Given the description of an element on the screen output the (x, y) to click on. 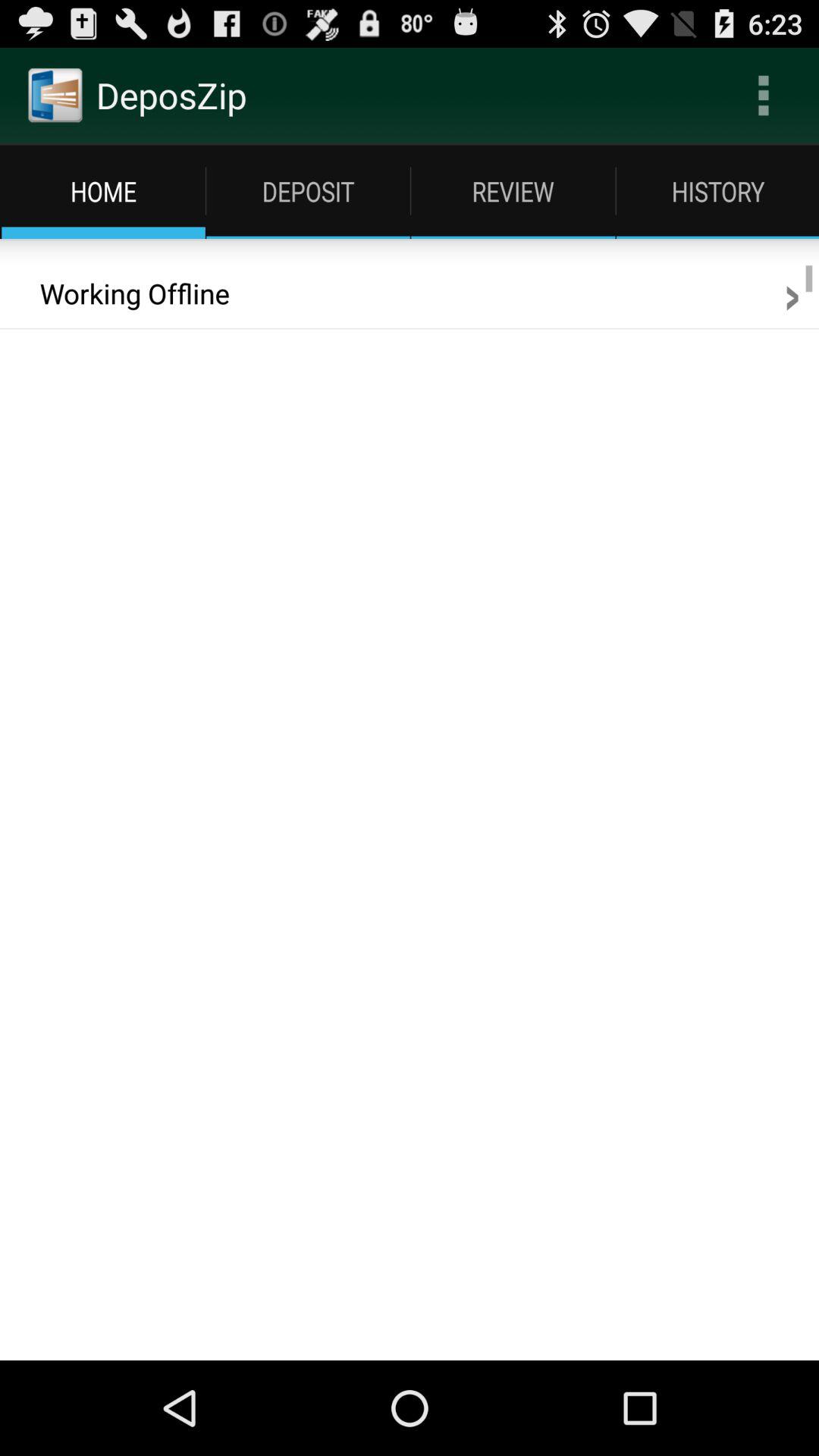
turn off the app next to the working offline item (792, 293)
